Given the description of an element on the screen output the (x, y) to click on. 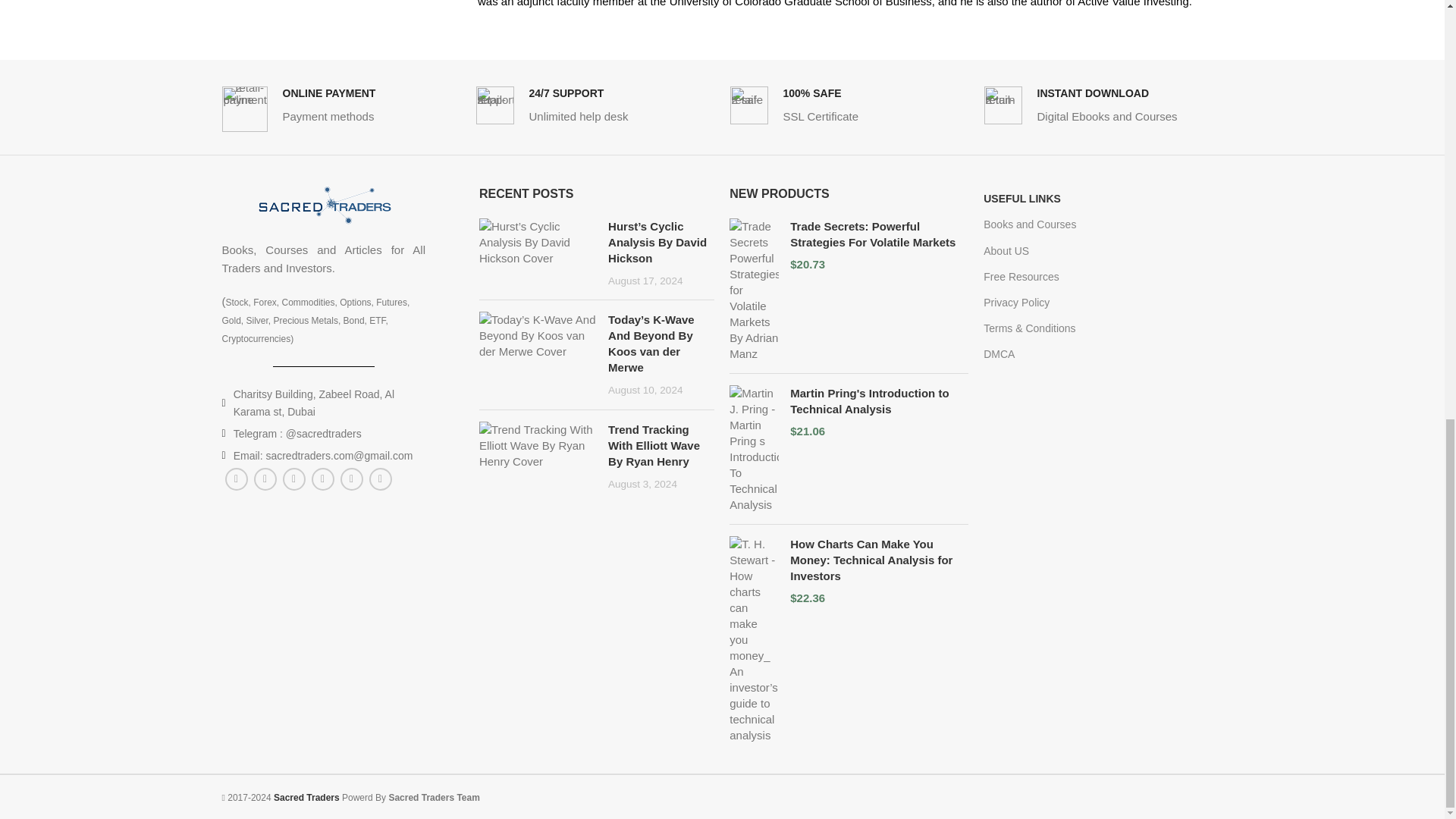
Martin Pring's Introduction to Technical Analysis (879, 400)
retail-2-return (1003, 105)
retail-2-safe (748, 105)
Permalink to Trend Tracking With Elliott Wave By Ryan Henry (654, 445)
retail-2-support (494, 105)
Trade Secrets: Powerful Strategies For Volatile Markets (879, 234)
retail-2-online-payment (243, 108)
